Given the description of an element on the screen output the (x, y) to click on. 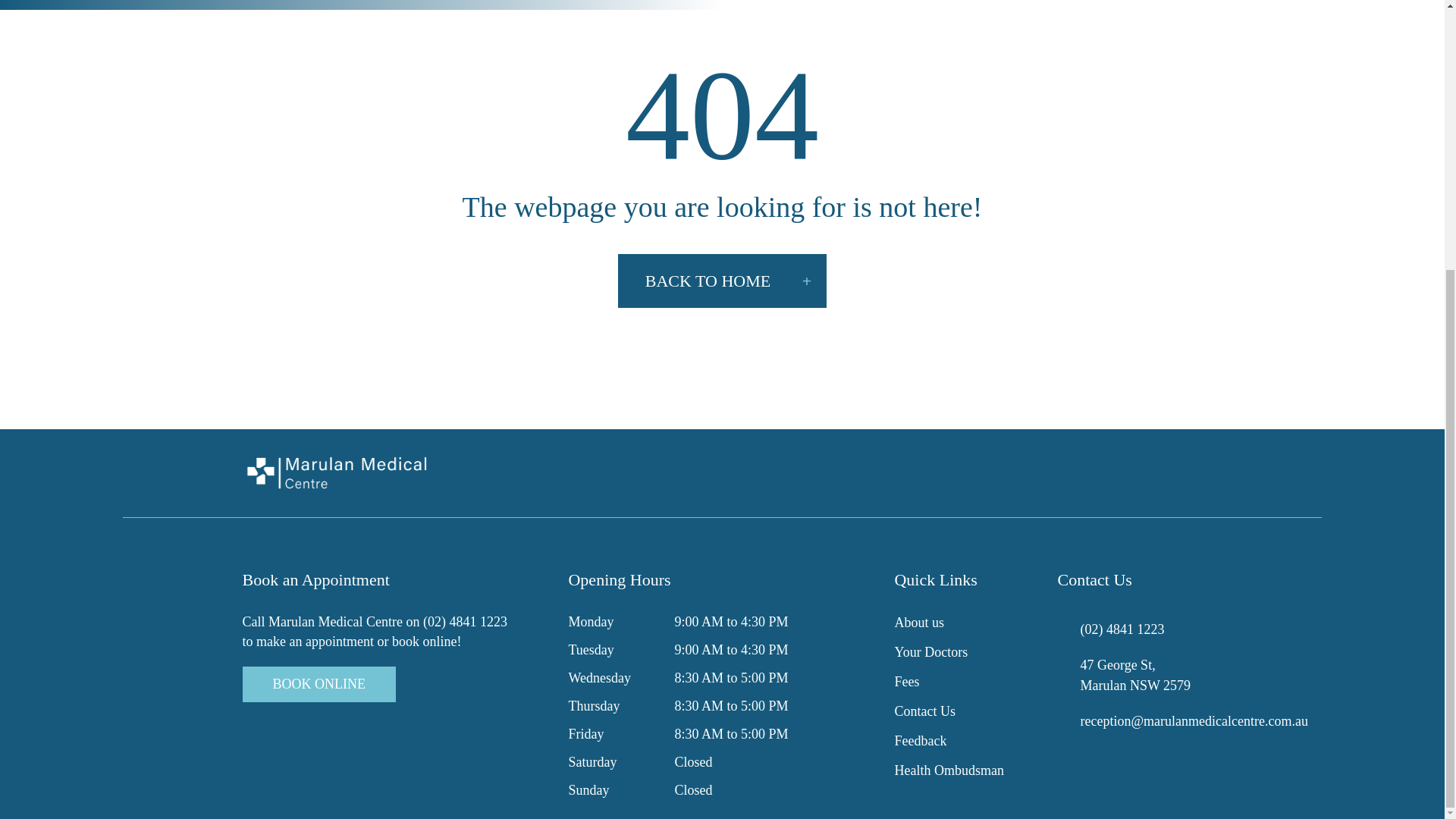
About us (918, 622)
Fees (905, 681)
BACK TO HOME (722, 280)
Contact Us (924, 711)
Feedback (919, 740)
Health Ombudsman (948, 770)
Your Doctors (930, 652)
BOOK ONLINE (319, 683)
